Given the description of an element on the screen output the (x, y) to click on. 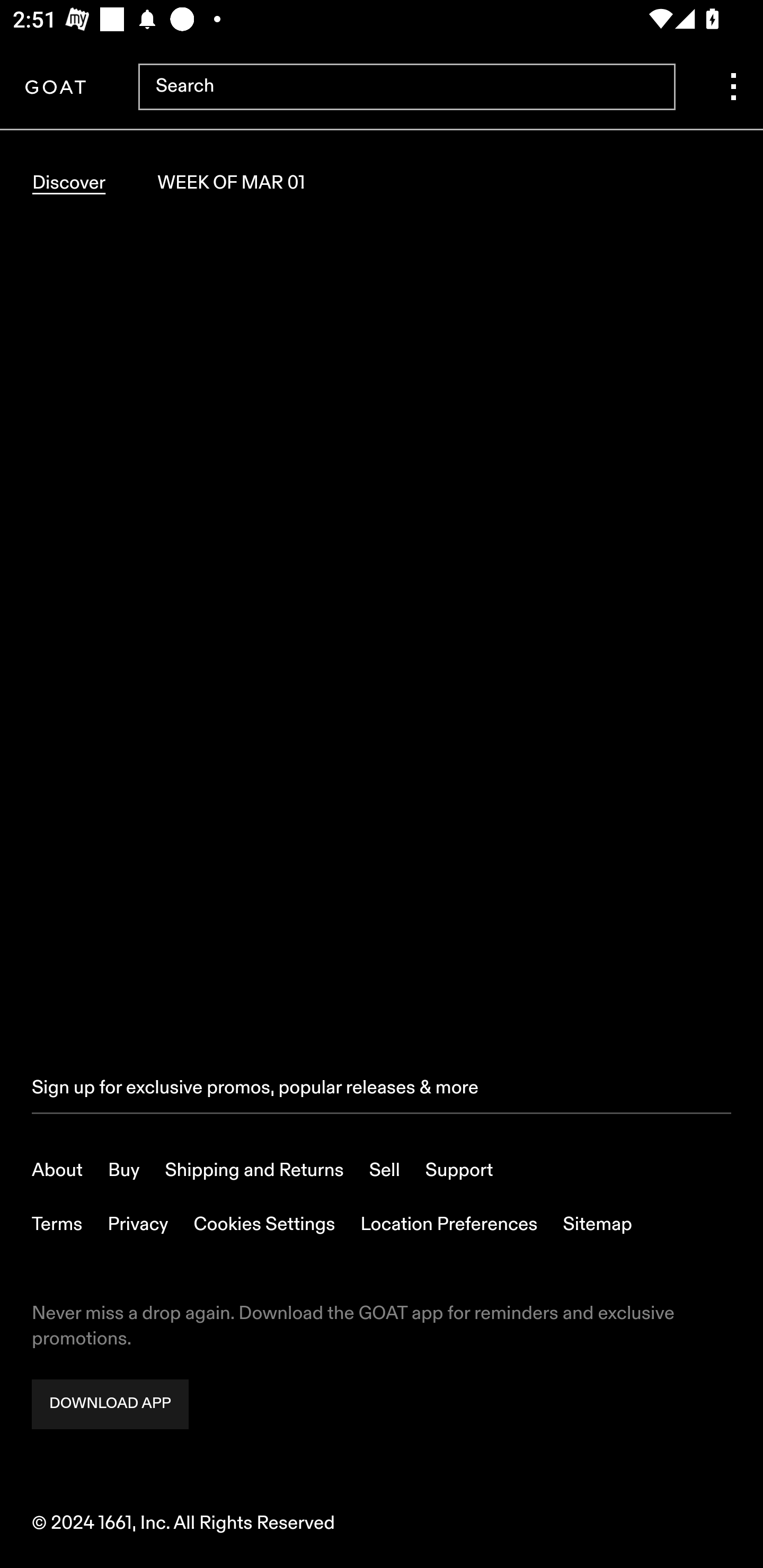
Search (406, 87)
menu (733, 87)
Goat Logo (55, 87)
Discover (68, 183)
WEEK OF MAR 01 (230, 183)
About (57, 1170)
Buy (123, 1170)
Sell (384, 1170)
Support (459, 1170)
Shipping and Returns (254, 1170)
Cookies Settings (263, 1225)
Location Preferences (448, 1225)
Terms (57, 1225)
Privacy (137, 1225)
Sitemap (597, 1225)
DOWNLOAD APP (110, 1404)
